Given the description of an element on the screen output the (x, y) to click on. 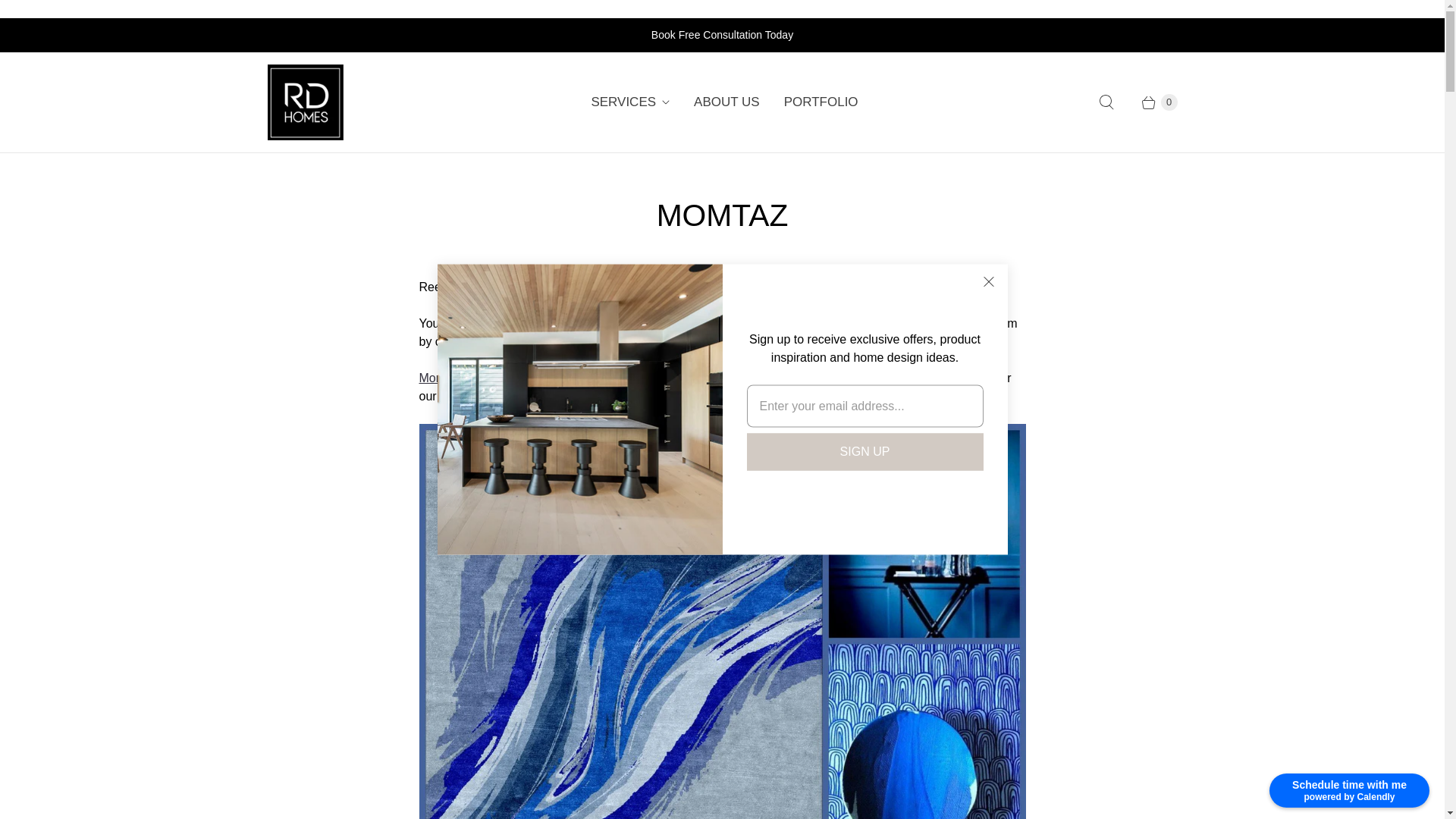
Sign Up (863, 452)
ABOUT US (726, 102)
0 (1151, 102)
PORTFOLIO (820, 102)
